Given the description of an element on the screen output the (x, y) to click on. 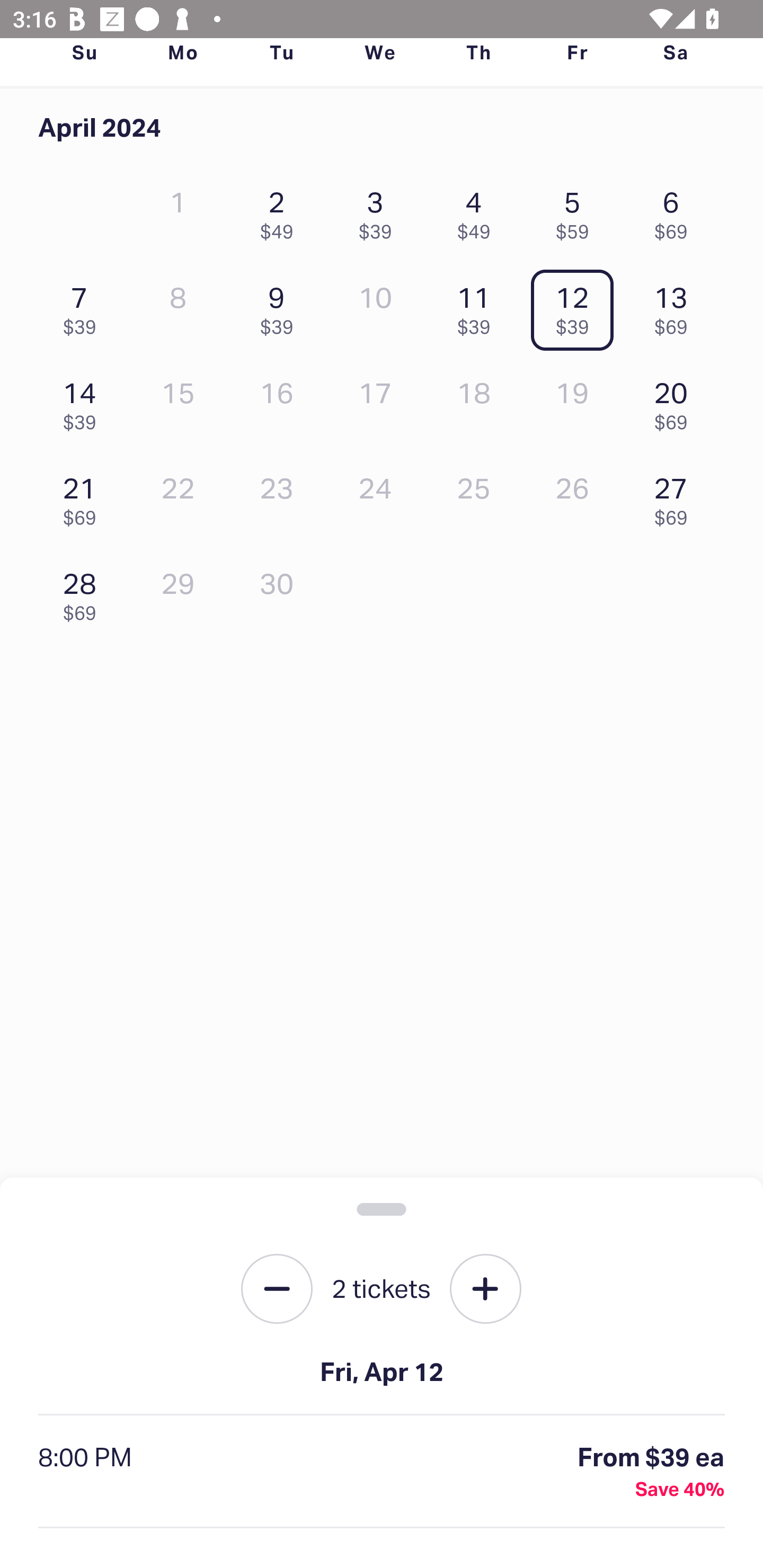
2 $49 (281, 210)
3 $39 (379, 210)
4 $49 (478, 210)
5 $59 (577, 210)
6 $69 (675, 210)
7 $39 (84, 306)
9 $39 (281, 306)
11 $39 (478, 306)
12 $39 (577, 306)
13 $69 (675, 306)
14 $39 (84, 401)
20 $69 (675, 401)
21 $69 (84, 496)
27 $69 (675, 496)
28 $69 (84, 591)
8:00 PM From $39 ea Save 40% (381, 1471)
